Given the description of an element on the screen output the (x, y) to click on. 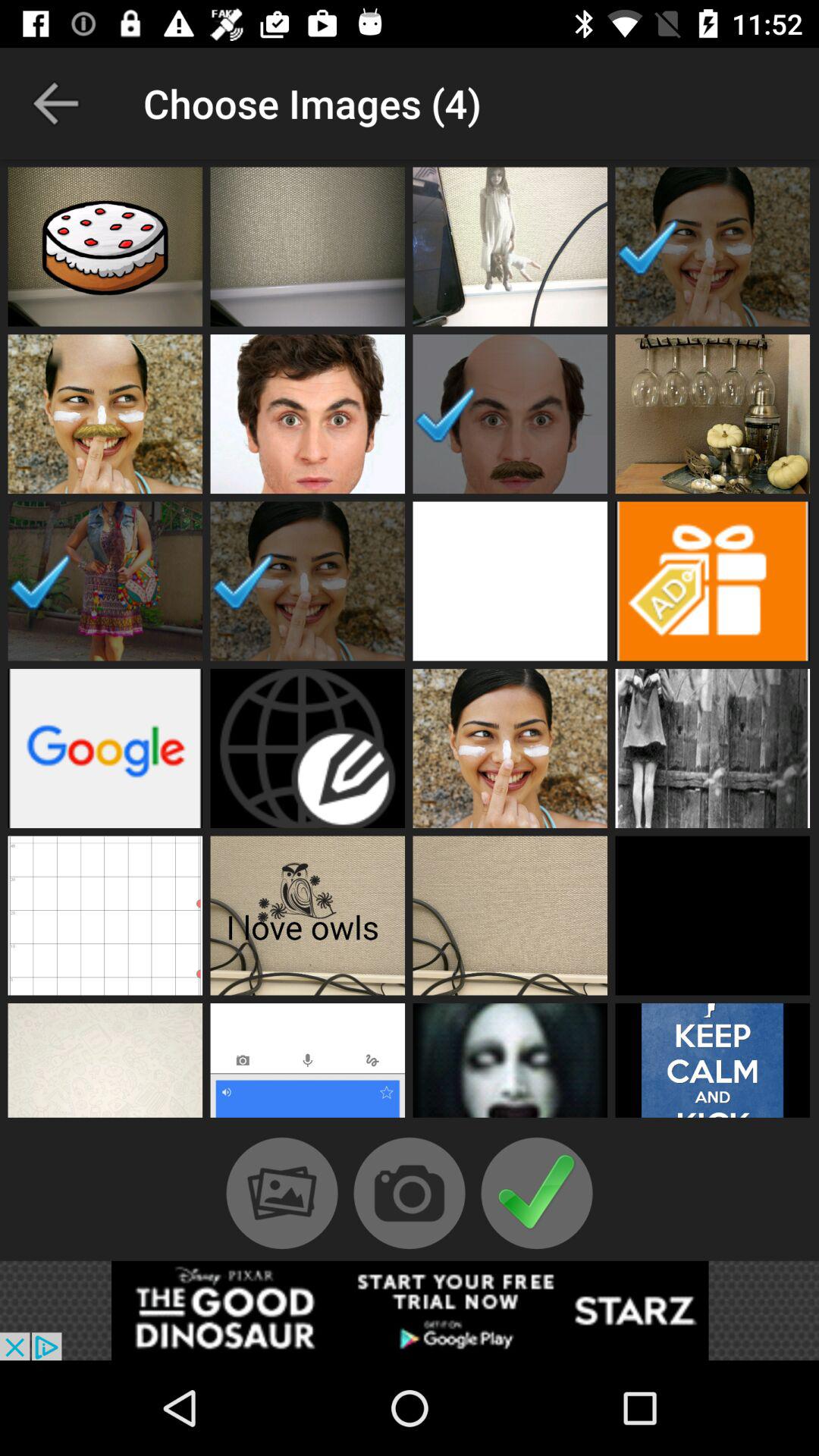
share the article (409, 1310)
